Given the description of an element on the screen output the (x, y) to click on. 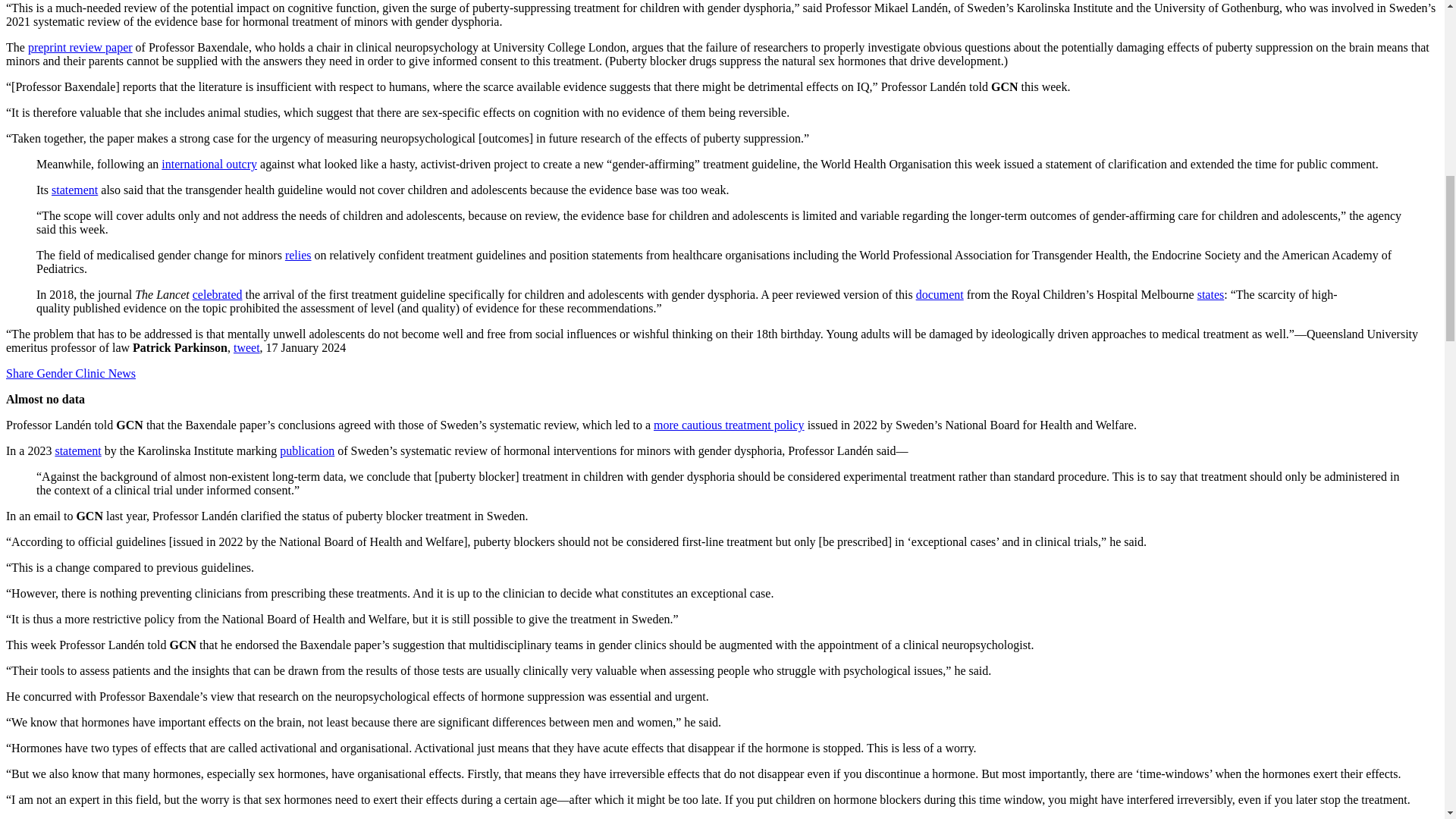
preprint review paper (79, 47)
relies (298, 254)
states (1210, 294)
statement (73, 189)
international outcry (209, 164)
Share Gender Clinic News (70, 373)
celebrated (217, 294)
document (939, 294)
more cautious treatment policy (729, 424)
publication (306, 450)
